Given the description of an element on the screen output the (x, y) to click on. 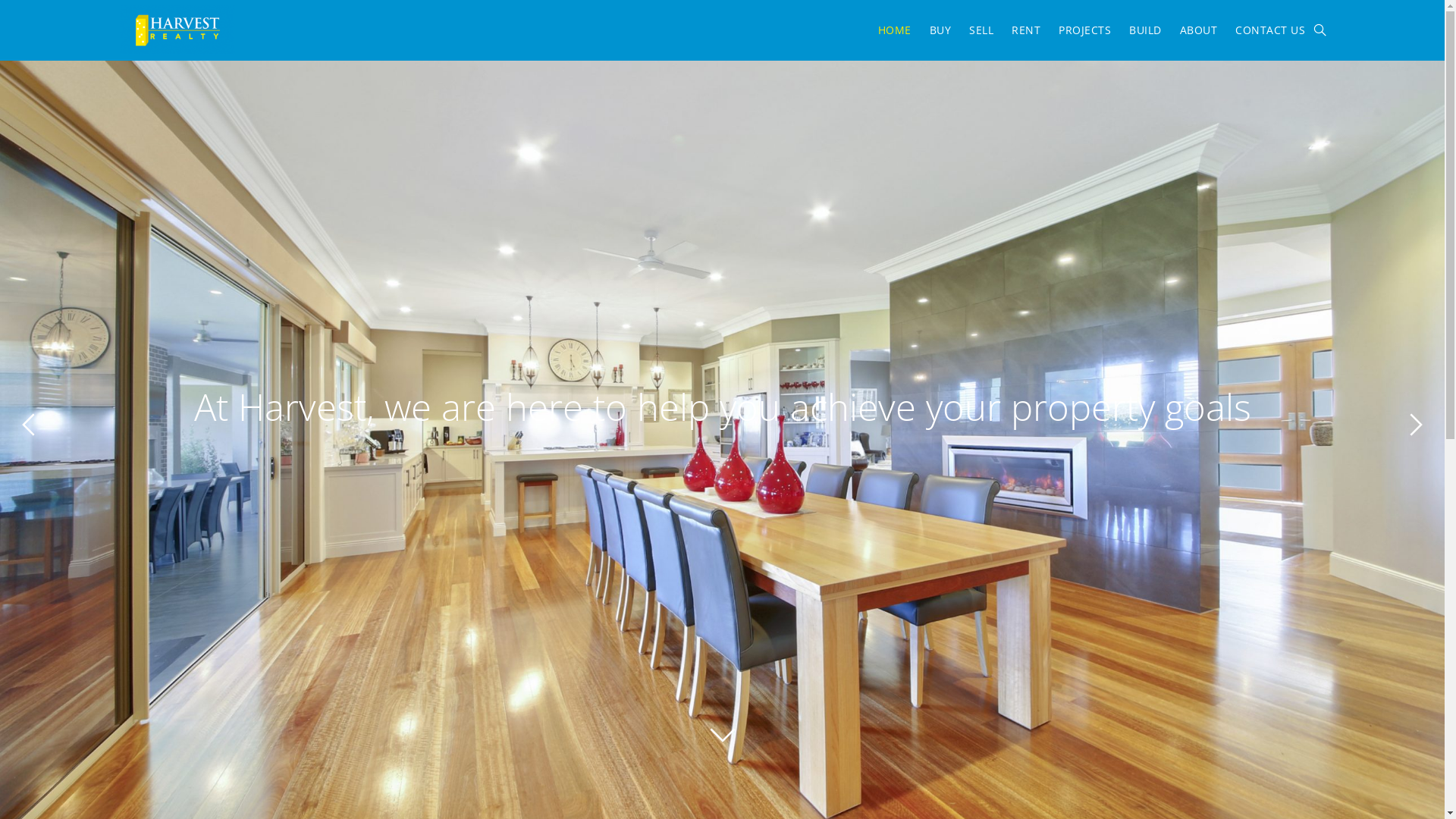
BUY Element type: text (940, 30)
RENT Element type: text (1026, 30)
BUILD Element type: text (1145, 30)
HOME Element type: text (894, 30)
CONTACT US Element type: text (1269, 30)
SELL Element type: text (981, 30)
ABOUT Element type: text (1198, 30)
PROJECTS Element type: text (1084, 30)
